Given the description of an element on the screen output the (x, y) to click on. 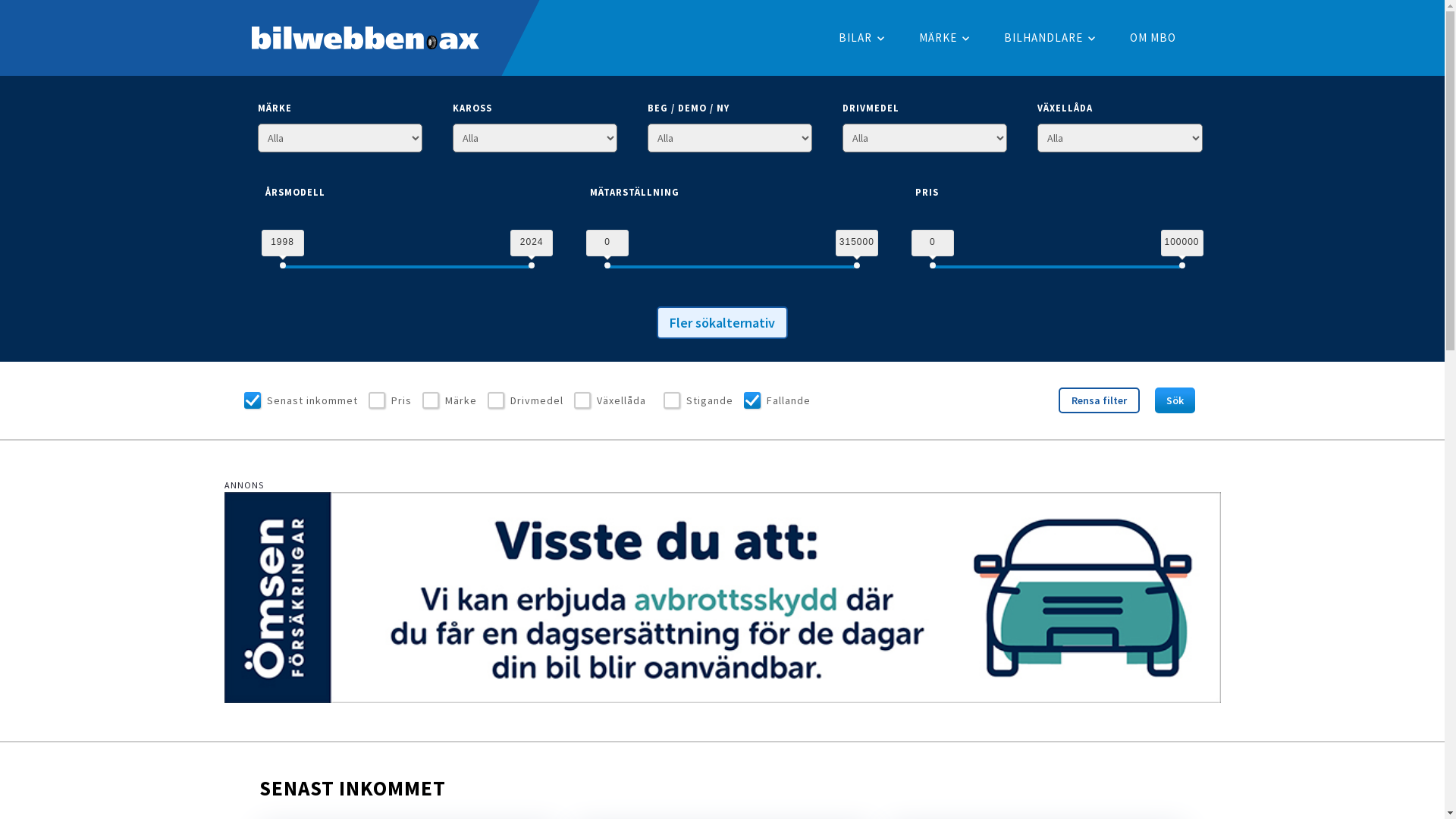
OM MBO Element type: text (1153, 38)
Rensa filter Element type: text (1098, 400)
